Given the description of an element on the screen output the (x, y) to click on. 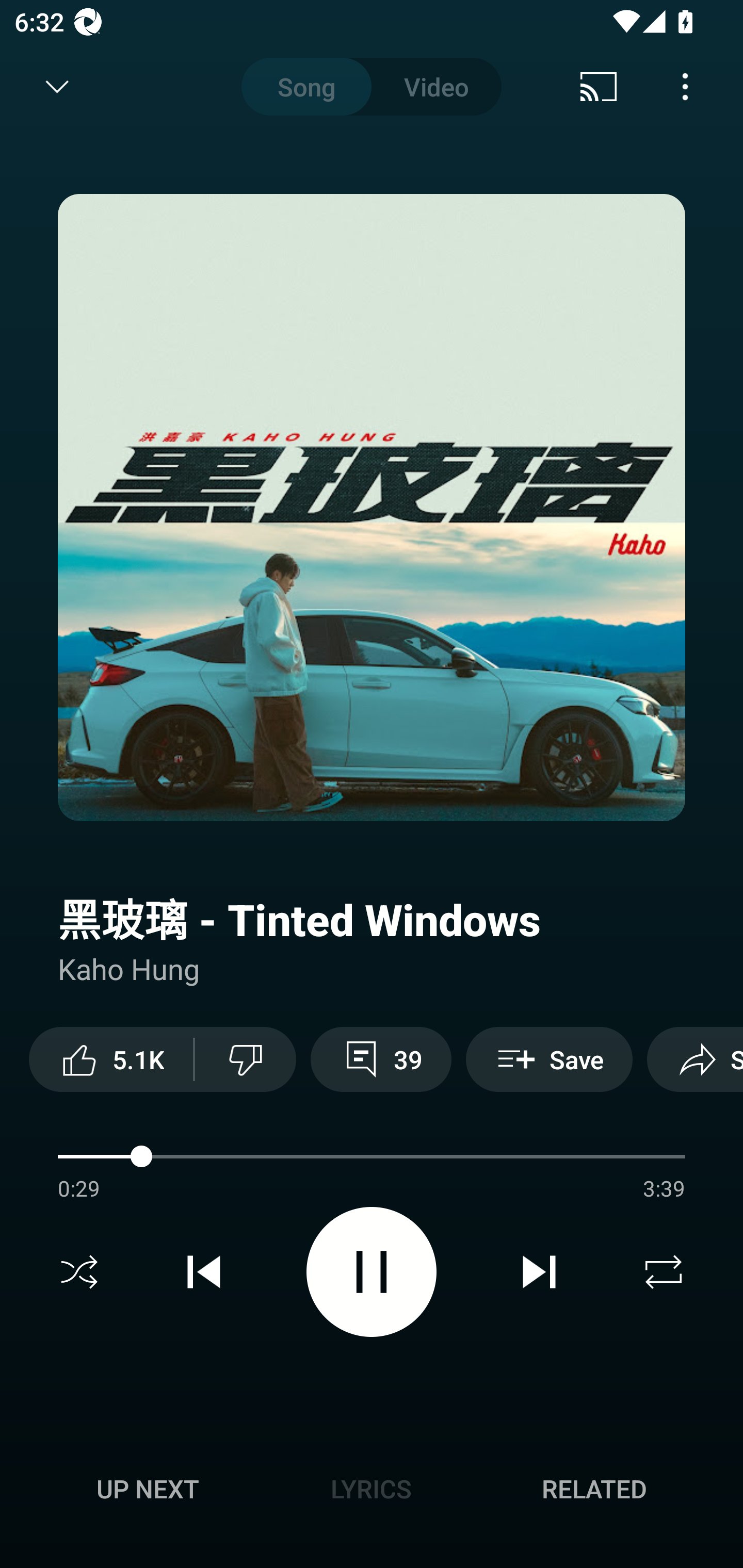
Minimize (57, 86)
Cast. Disconnected (598, 86)
Menu (684, 86)
5.1K like this video along with 5,122 other people (110, 1059)
Dislike (245, 1059)
39 View 39 comments (380, 1059)
Save Save to playlist (548, 1059)
Share (695, 1059)
Pause video (371, 1272)
Shuffle off (79, 1272)
Previous track (203, 1272)
Next track (538, 1272)
Repeat off (663, 1272)
Up next UP NEXT Lyrics LYRICS Related RELATED (371, 1491)
Lyrics LYRICS (370, 1488)
Related RELATED (594, 1488)
